Given the description of an element on the screen output the (x, y) to click on. 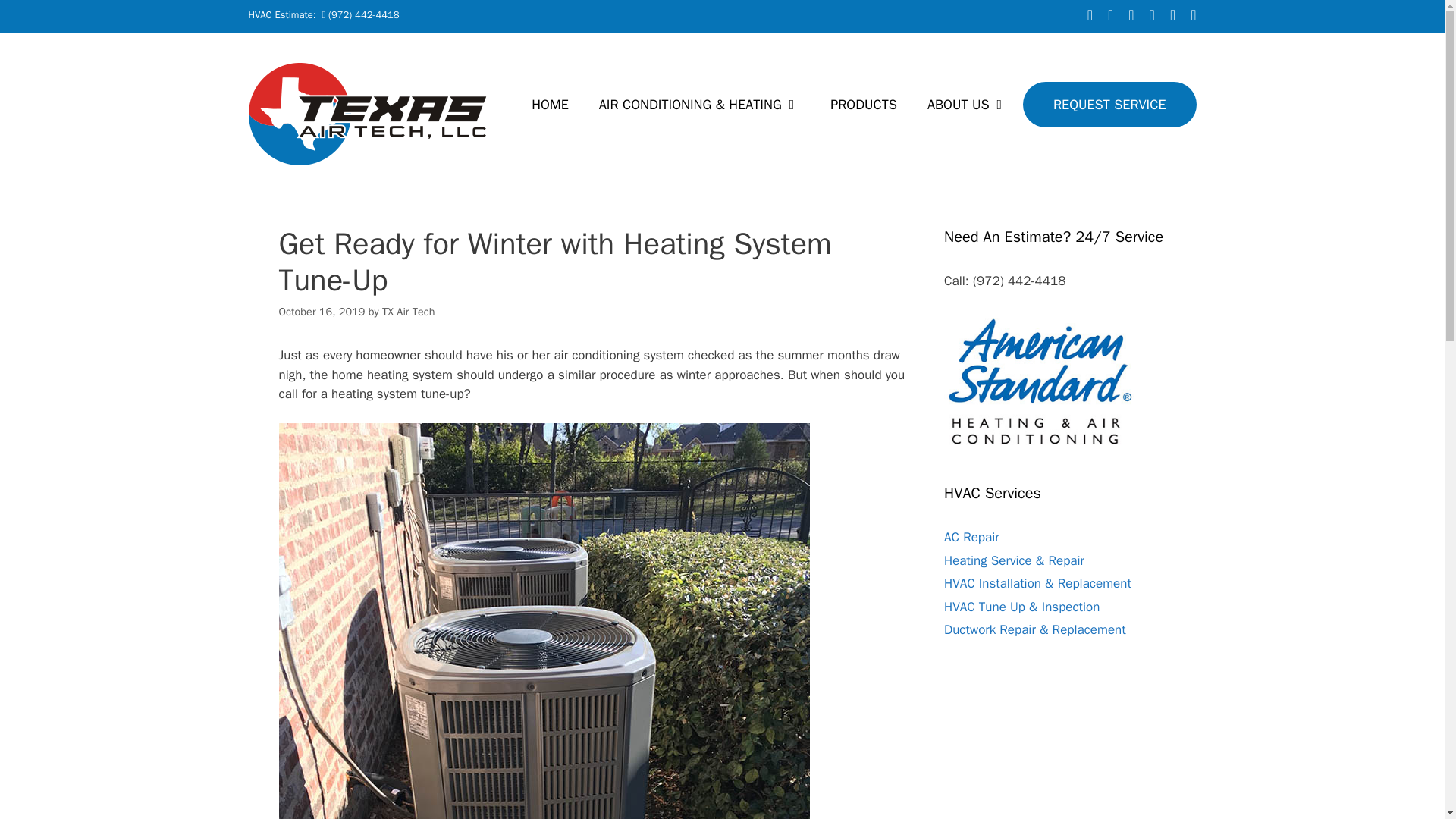
View all posts by TX Air Tech (408, 311)
TX Air Tech (408, 311)
PRODUCTS (863, 104)
AC Repair (970, 537)
ABOUT US (967, 104)
REQUEST SERVICE (1109, 104)
1:32 pm (322, 311)
HOME (549, 104)
October 16, 2019 (322, 311)
Texas Air Tech (367, 113)
Texas Air Tech (367, 112)
